Given the description of an element on the screen output the (x, y) to click on. 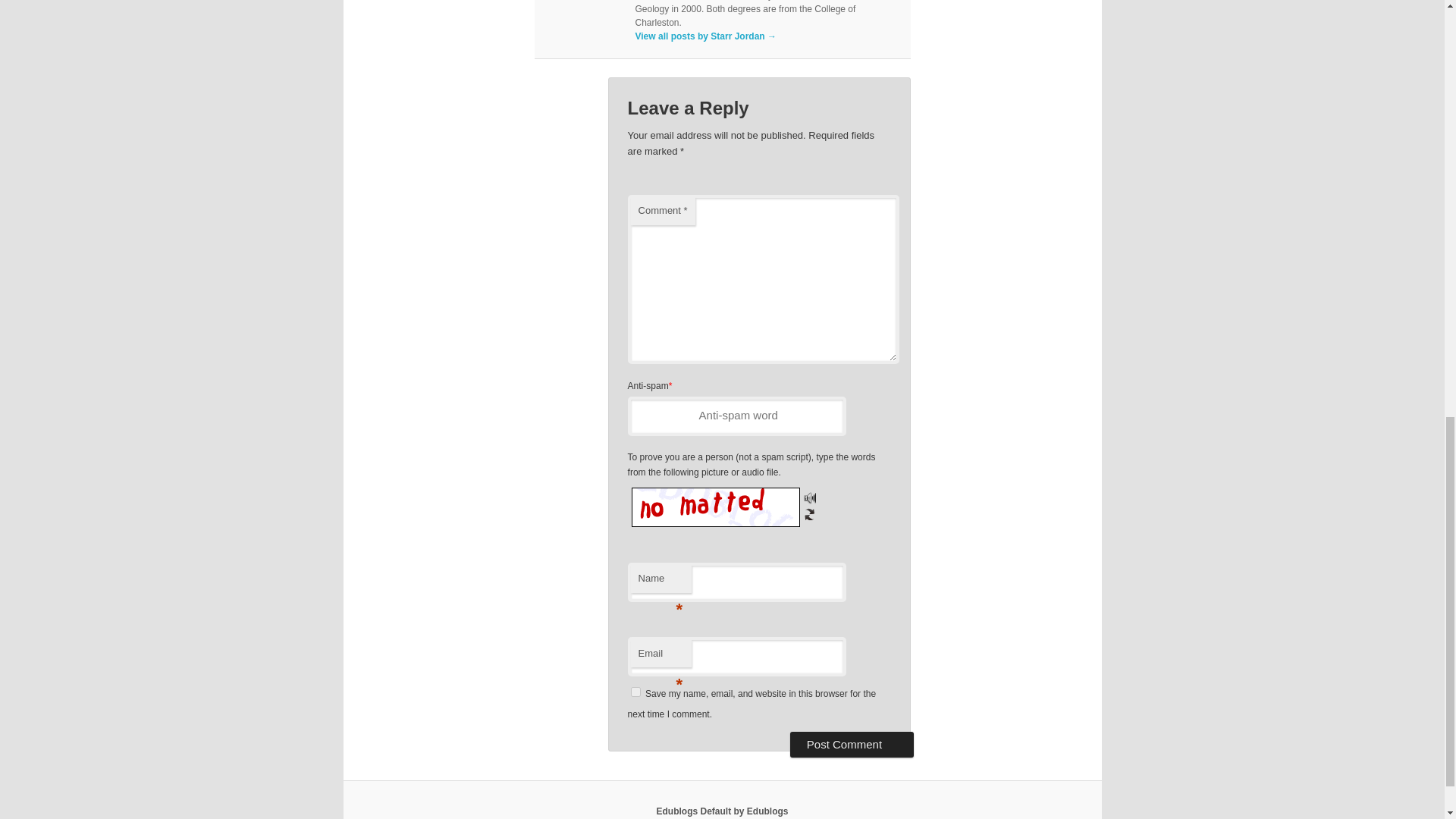
Listen (809, 497)
Post Comment (852, 744)
yes (635, 691)
Load new (809, 512)
Post Comment (852, 744)
